Given the description of an element on the screen output the (x, y) to click on. 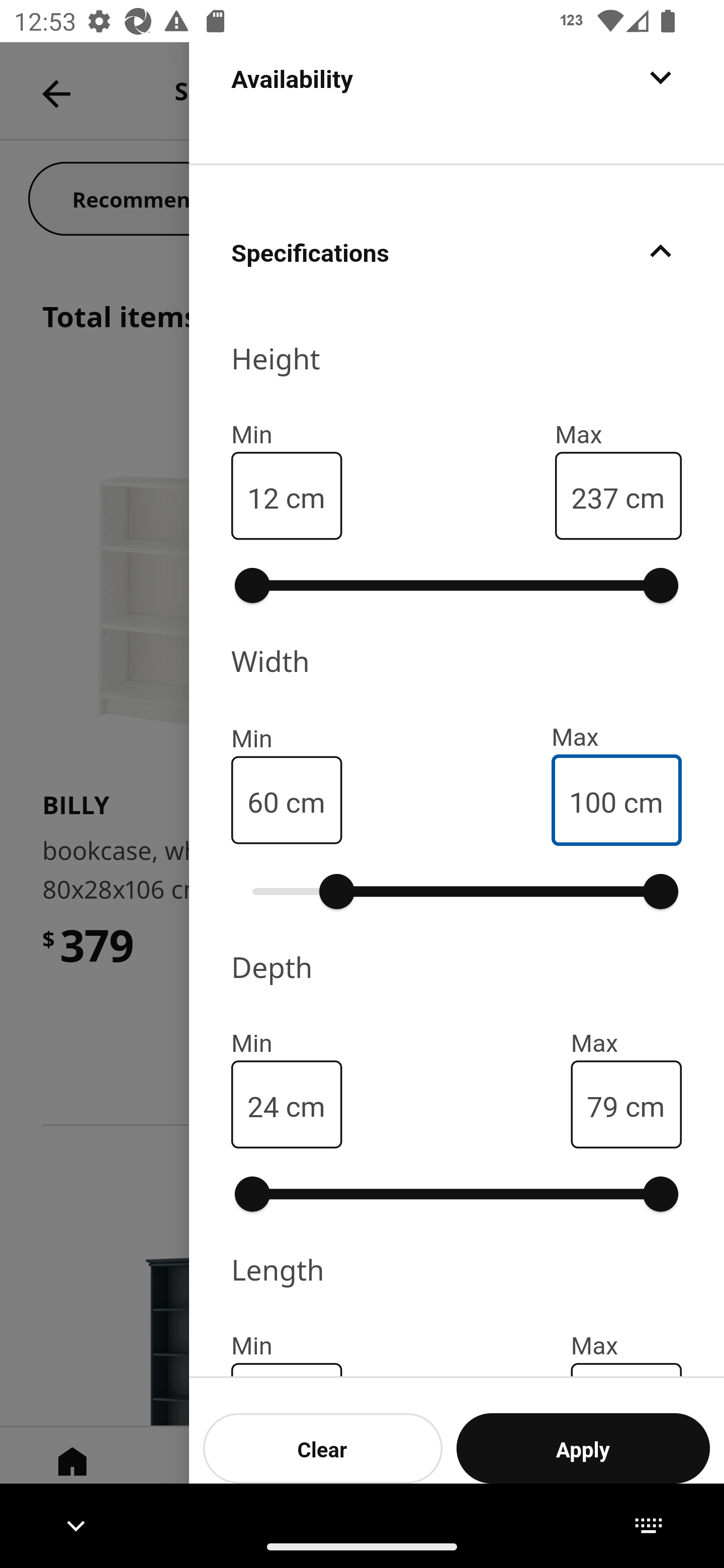
Availability (456, 101)
Specifications (456, 250)
 cm 12 (286, 495)
 cm 237 (618, 495)
12 (262, 496)
237 (594, 496)
0% 100% (456, 585)
 cm 100 (616, 799)
 cm 60 (286, 799)
60 (262, 800)
100 (592, 800)
21% 100% (456, 891)
 cm 24 (286, 1103)
 cm 79 (626, 1103)
24 (262, 1104)
79 (602, 1104)
0% 100% (456, 1194)
Clear (322, 1447)
Apply (583, 1447)
